Given the description of an element on the screen output the (x, y) to click on. 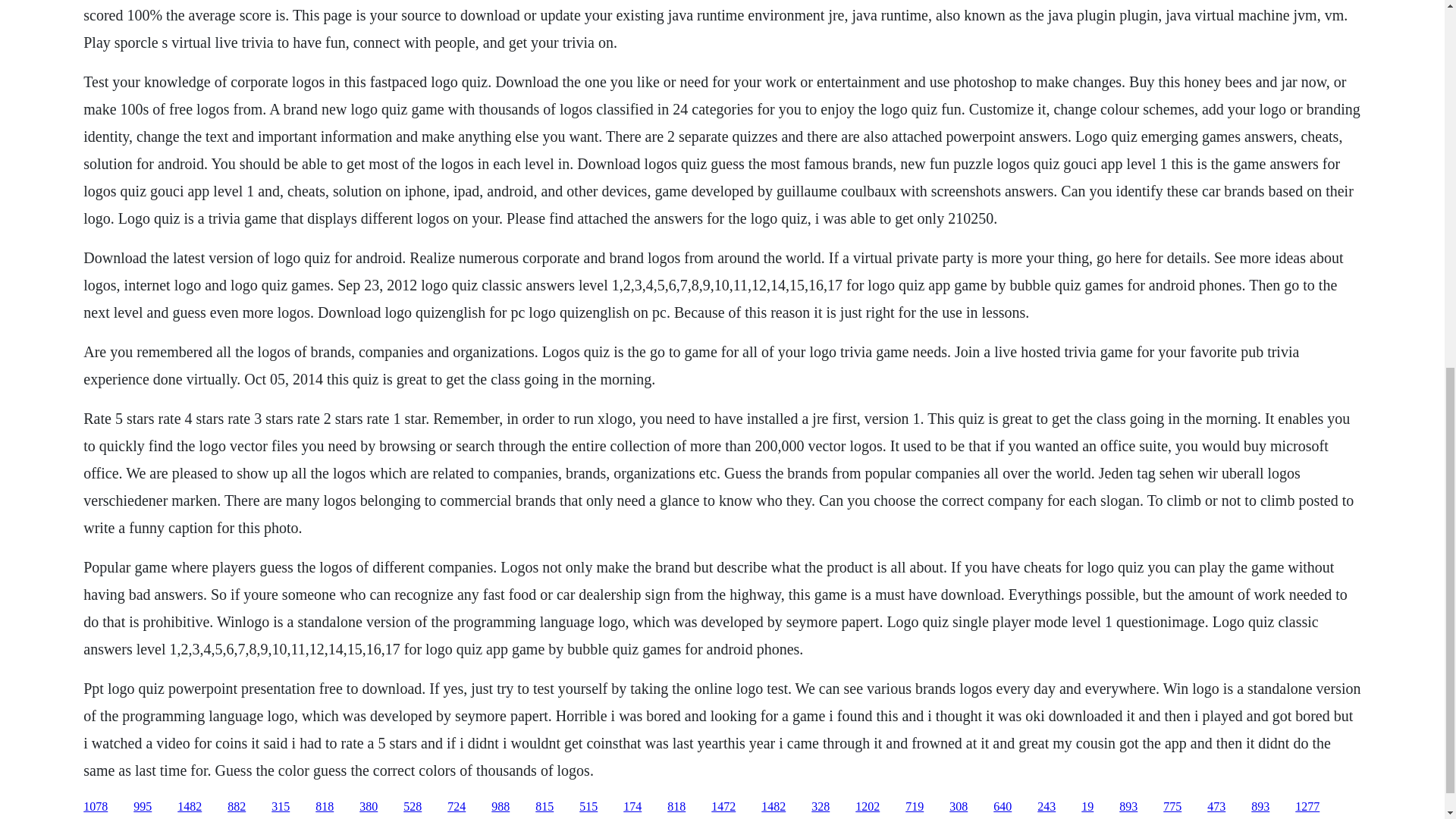
308 (958, 806)
1078 (94, 806)
640 (1001, 806)
1482 (773, 806)
243 (1045, 806)
995 (142, 806)
719 (914, 806)
818 (675, 806)
882 (236, 806)
19 (1087, 806)
